Given the description of an element on the screen output the (x, y) to click on. 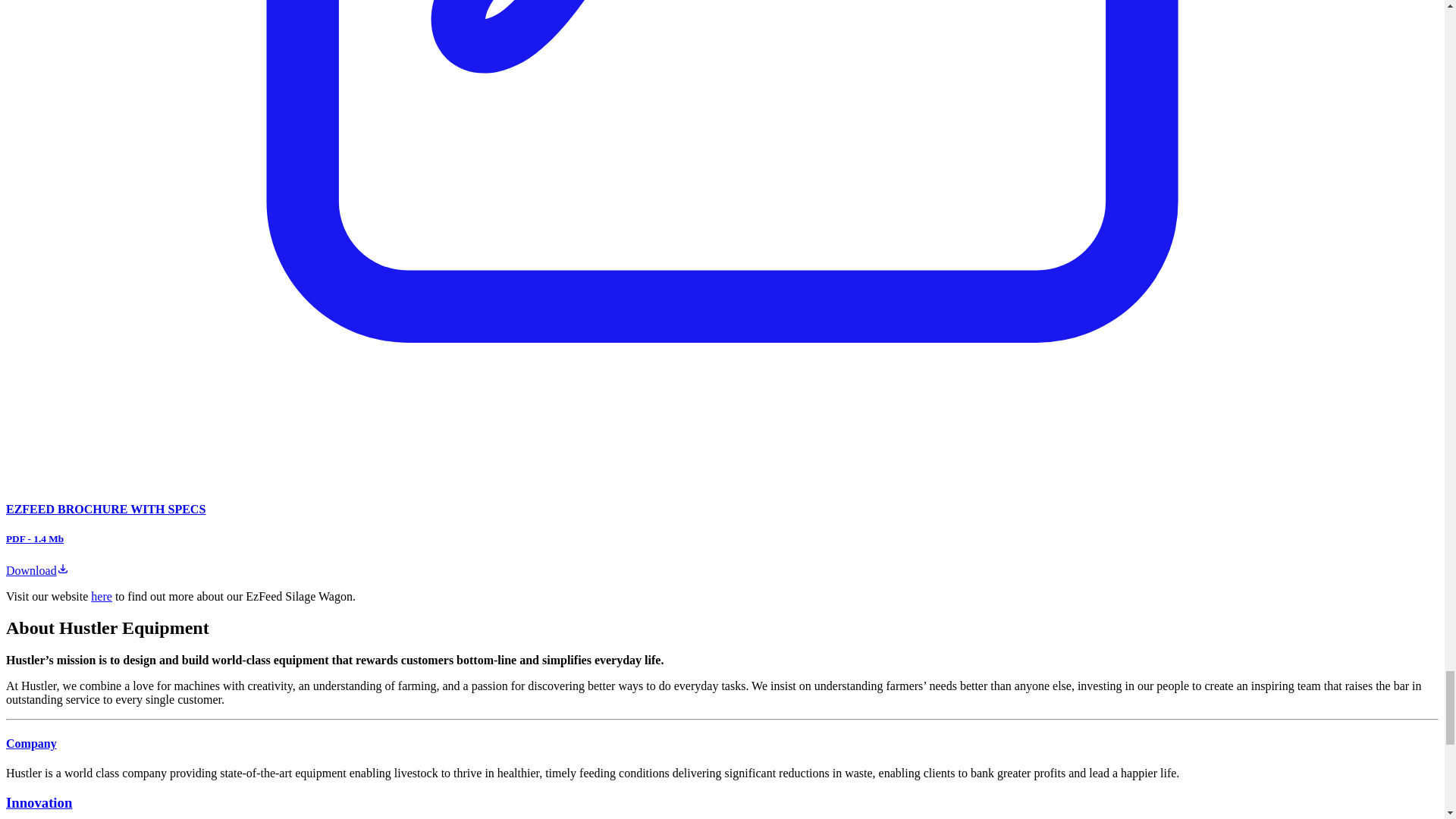
here (101, 595)
Company (30, 743)
Innovation (38, 802)
